Given the description of an element on the screen output the (x, y) to click on. 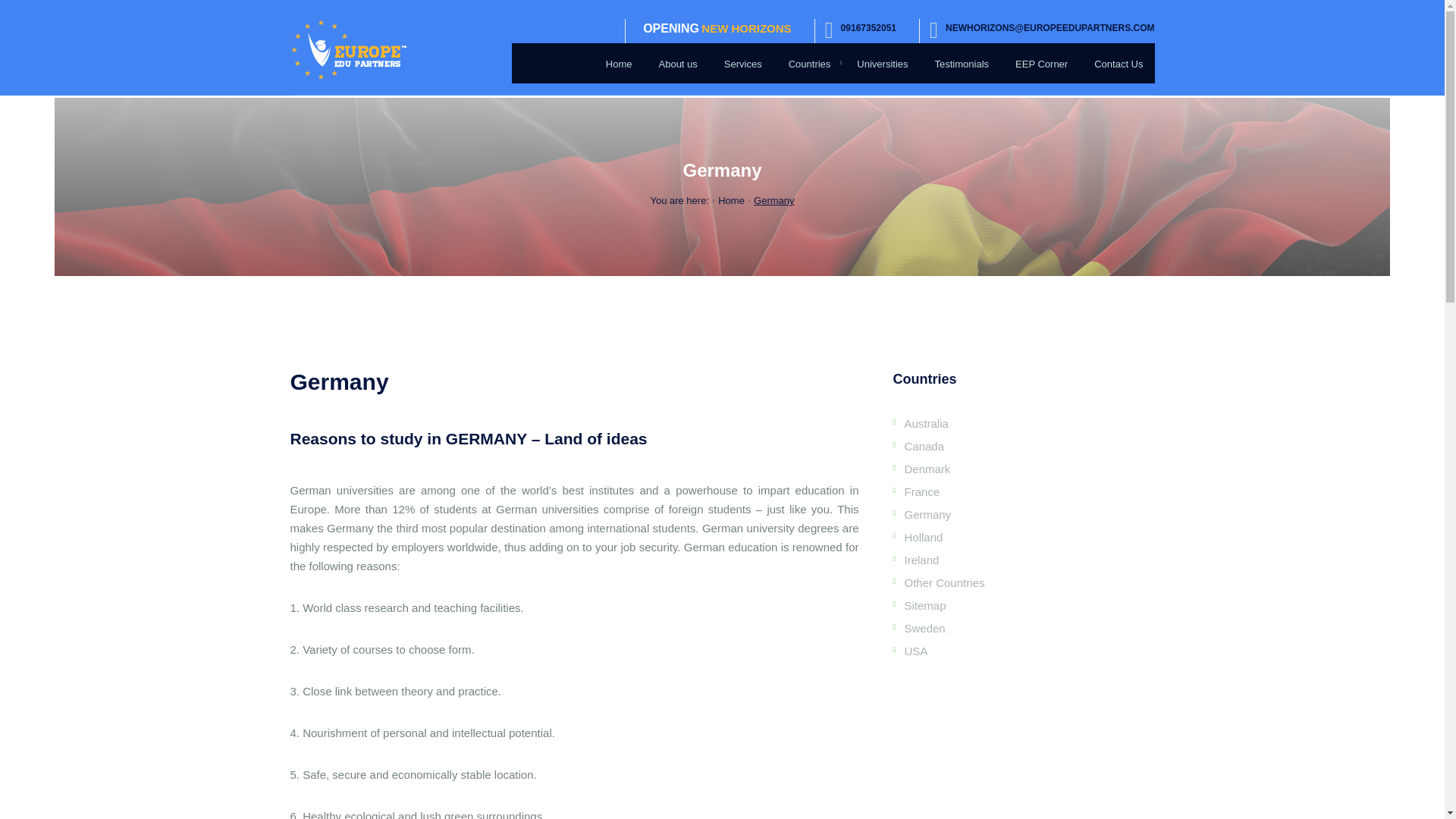
Sitemap (924, 604)
Contact Us (1124, 63)
Home (730, 200)
AUSTRALIA (860, 93)
USA (915, 650)
Canada (923, 445)
Other Countries (944, 582)
Home (624, 63)
Sweden (924, 627)
Australia (925, 422)
About us (682, 63)
EEP Corner (1046, 63)
Testimonials (967, 63)
France (921, 491)
Ireland (921, 559)
